Given the description of an element on the screen output the (x, y) to click on. 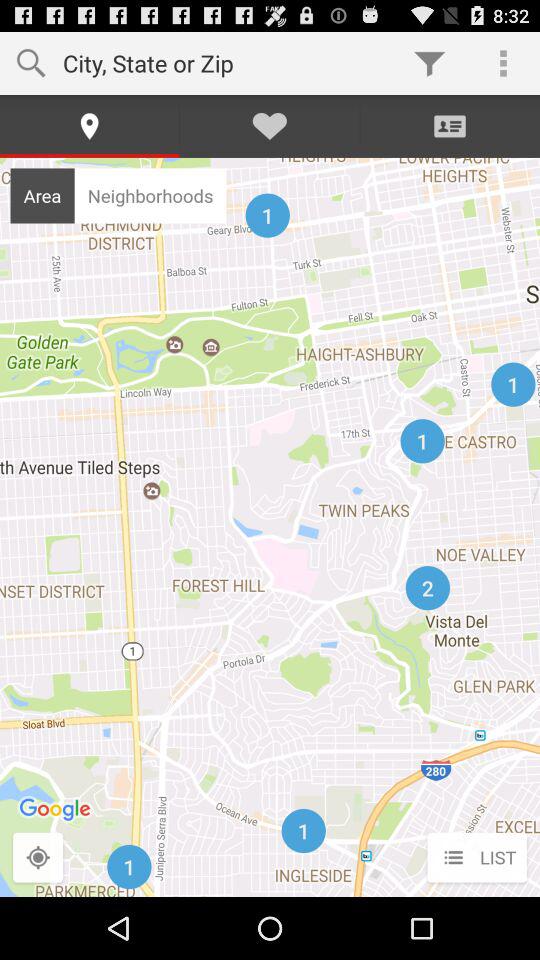
press the icon to the right of the area item (150, 195)
